Given the description of an element on the screen output the (x, y) to click on. 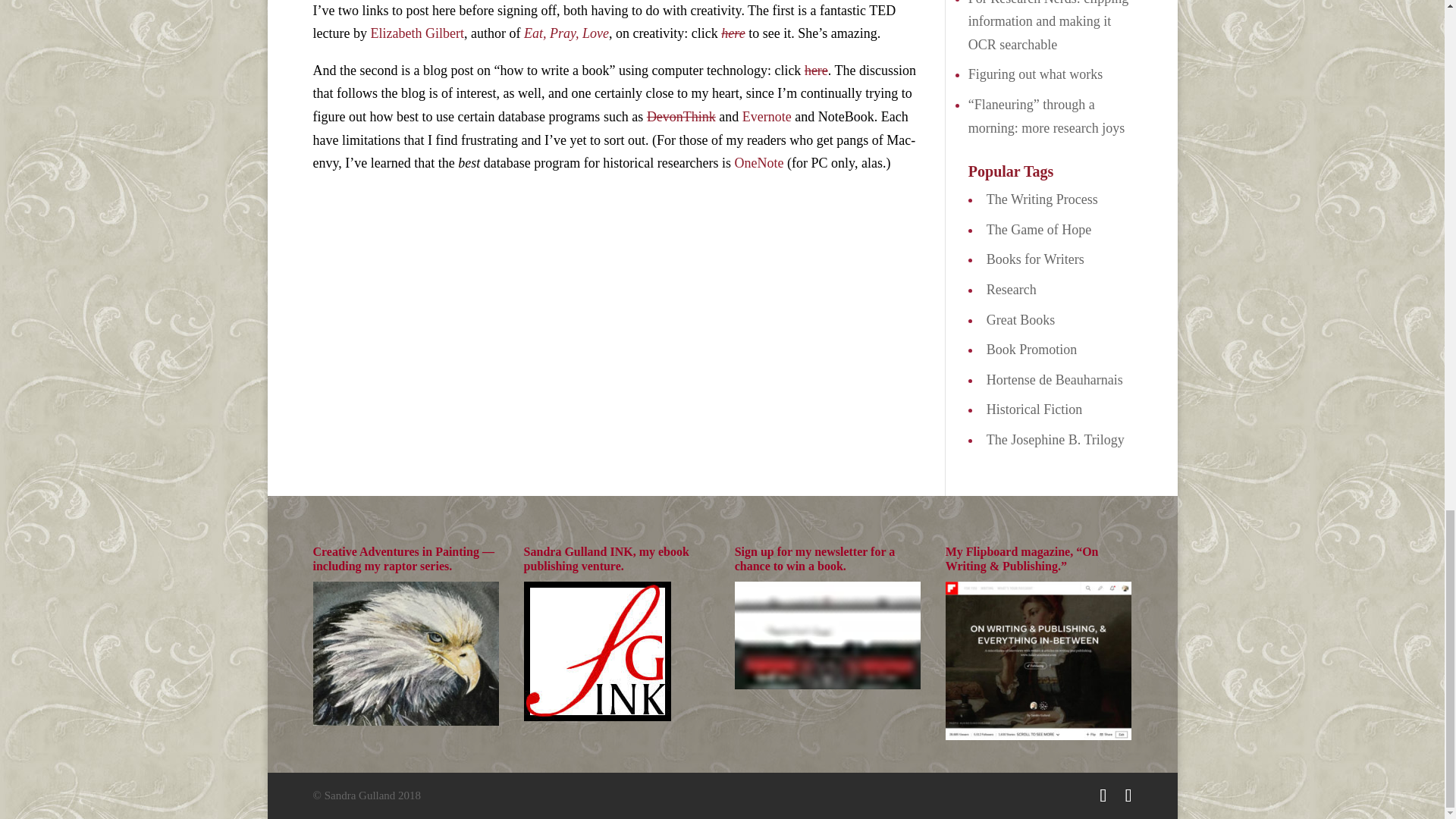
OneNote (759, 162)
OneNote (759, 162)
Elizabeth Gilbert (416, 32)
Figuring out what works (1035, 73)
DevonThink (681, 116)
Evernote (767, 116)
DevonThink (681, 116)
Evernote (767, 116)
here (732, 32)
